Given the description of an element on the screen output the (x, y) to click on. 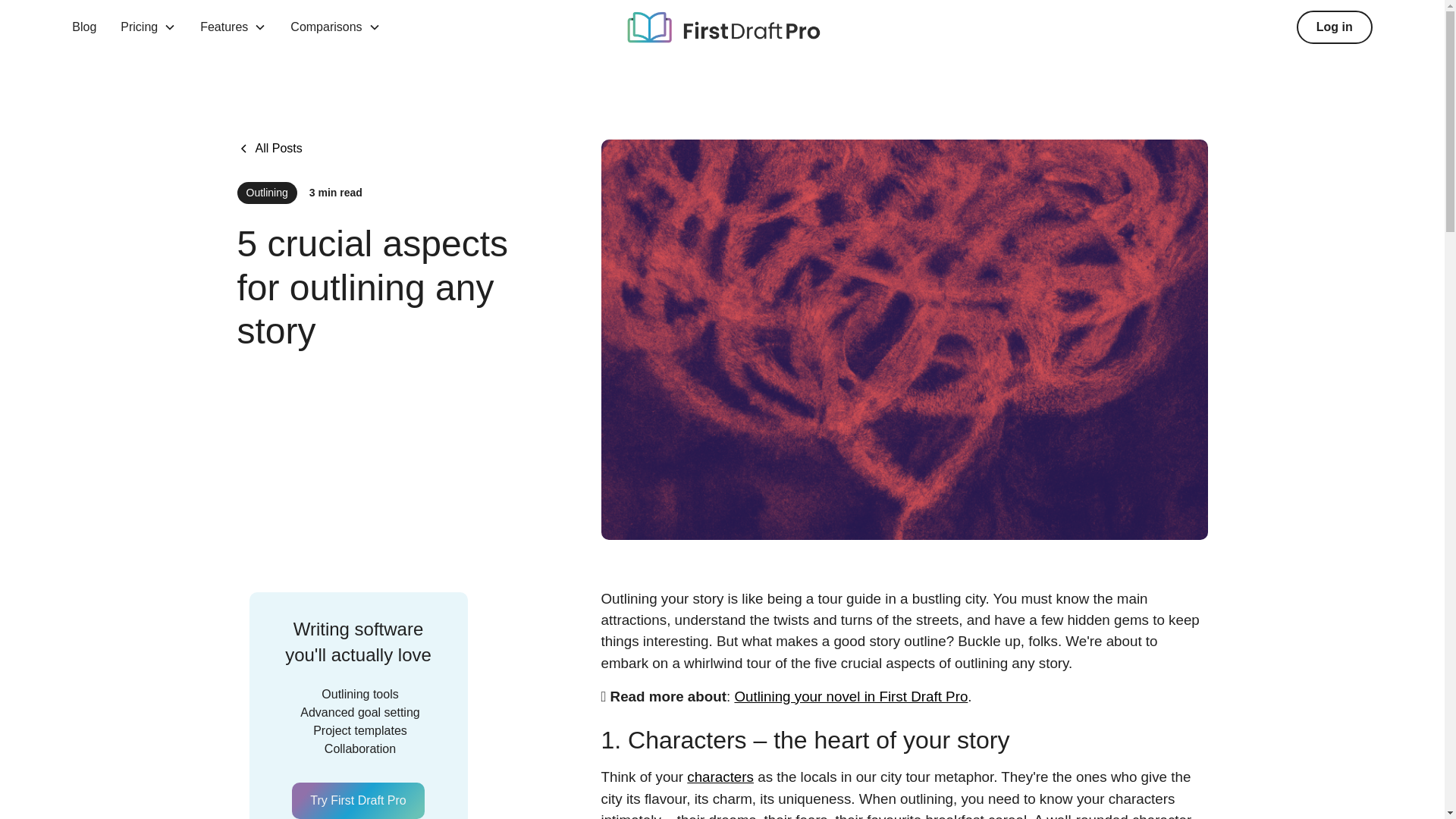
Blog (83, 27)
Try First Draft Pro (358, 800)
Outlining your novel in First Draft Pro (850, 696)
Outlining (266, 192)
Log in (1335, 27)
All Posts (268, 148)
characters (720, 776)
